Given the description of an element on the screen output the (x, y) to click on. 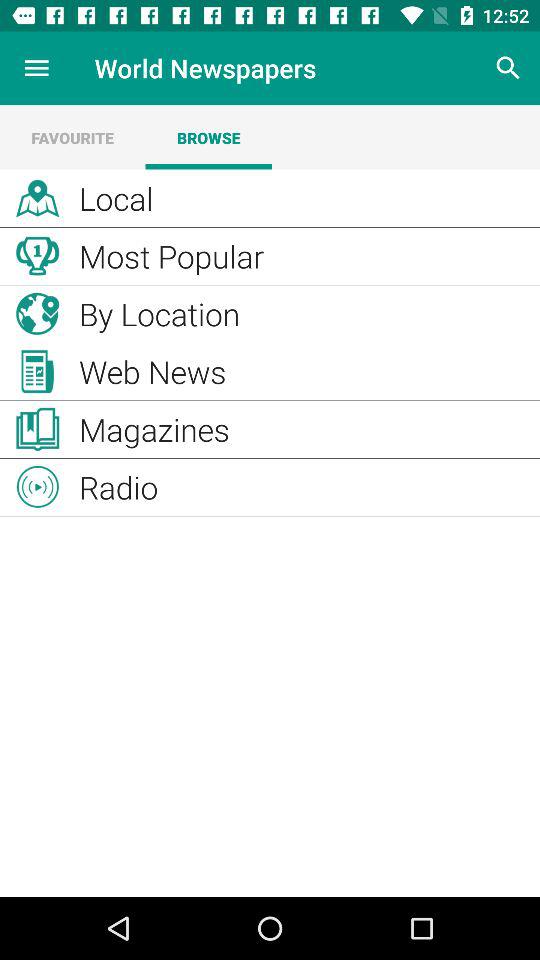
search news (508, 67)
